Given the description of an element on the screen output the (x, y) to click on. 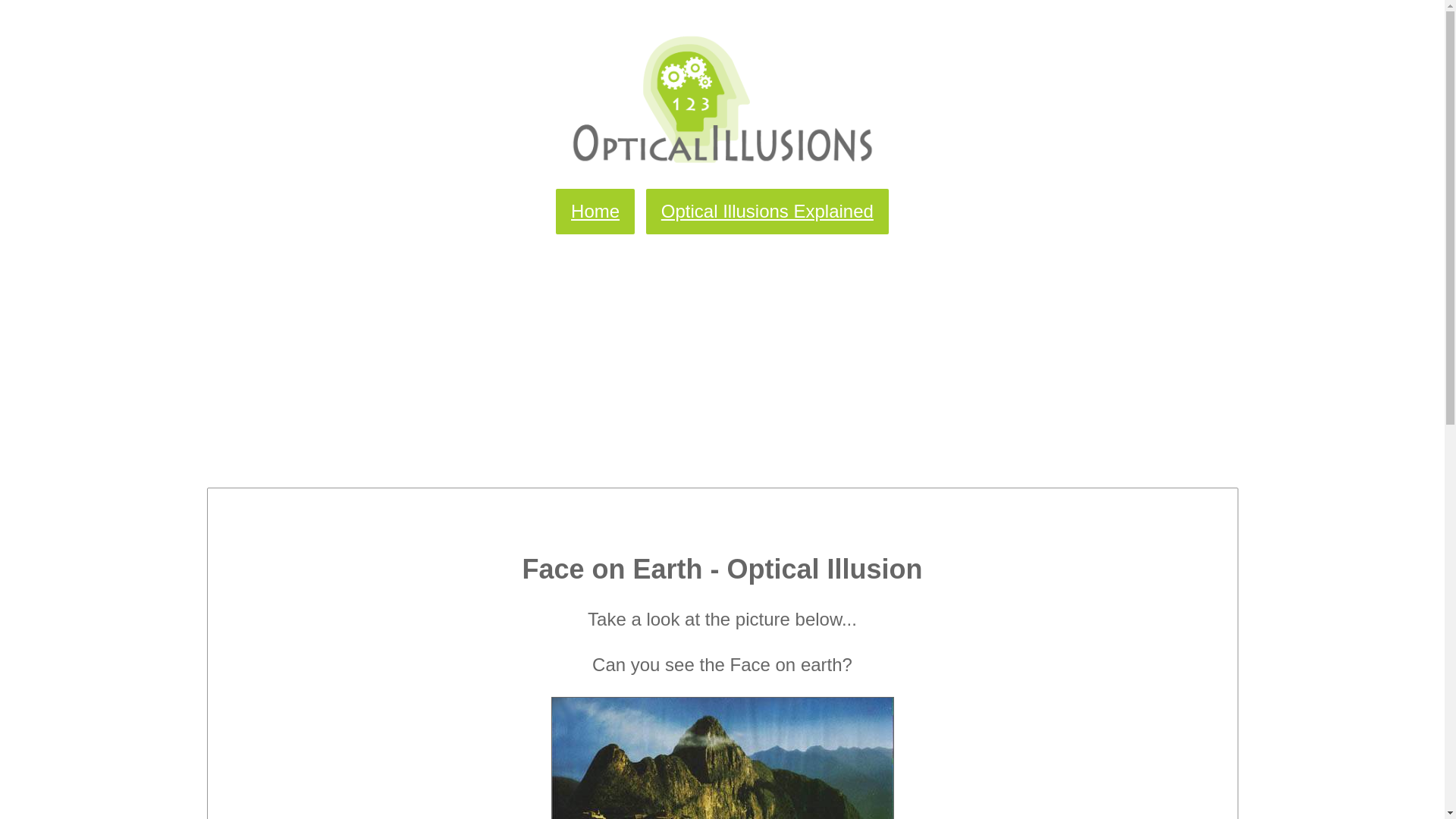
Home Element type: text (594, 211)
Optical Illusions Explained Element type: text (767, 211)
Advertisement Element type: hover (721, 350)
